Given the description of an element on the screen output the (x, y) to click on. 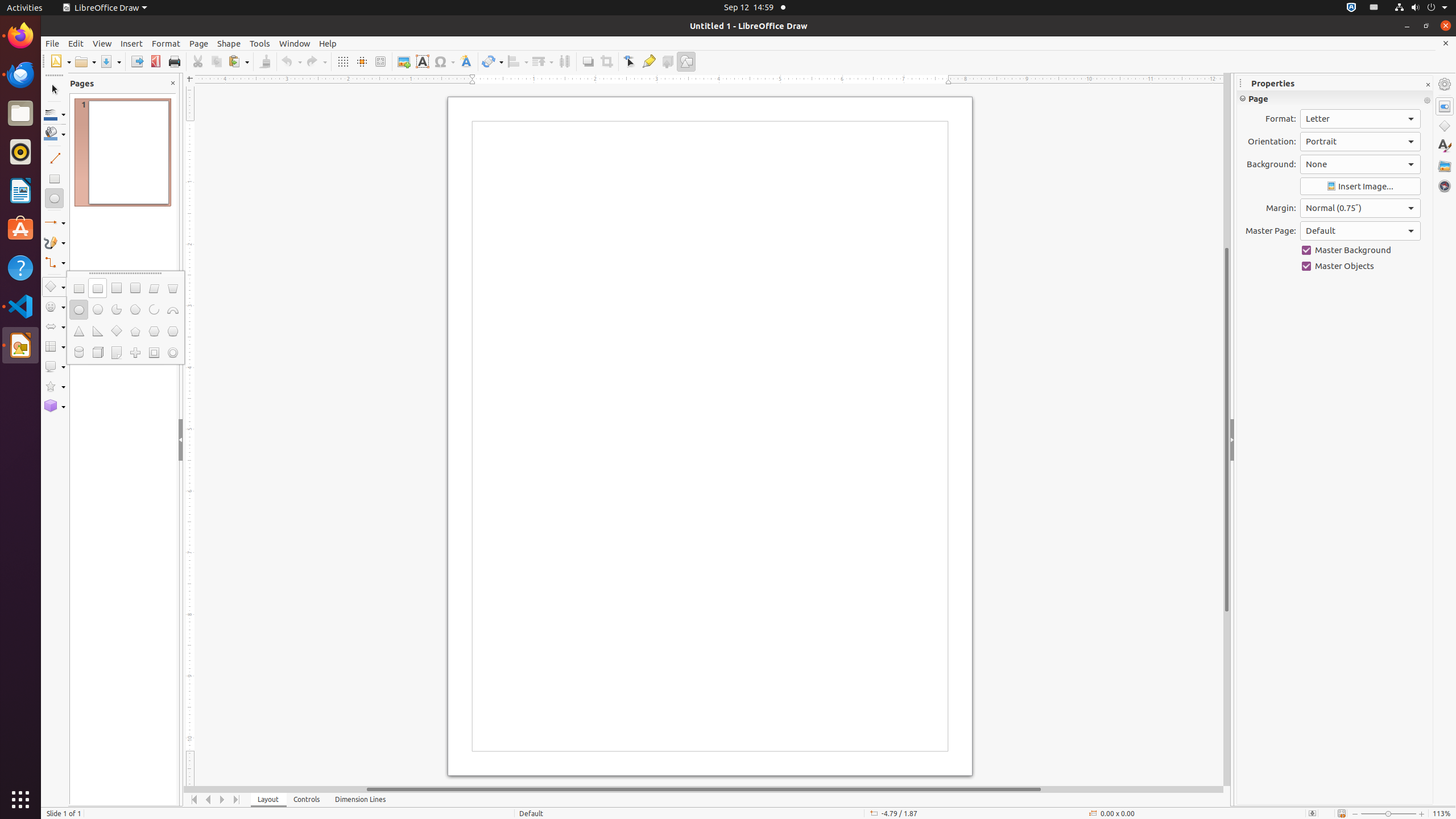
Styles Element type: radio-button (1444, 146)
Properties Element type: radio-button (1444, 106)
Open Element type: push-button (84, 61)
Insert Element type: menu (131, 43)
Format: Element type: combo-box (1360, 118)
